Given the description of an element on the screen output the (x, y) to click on. 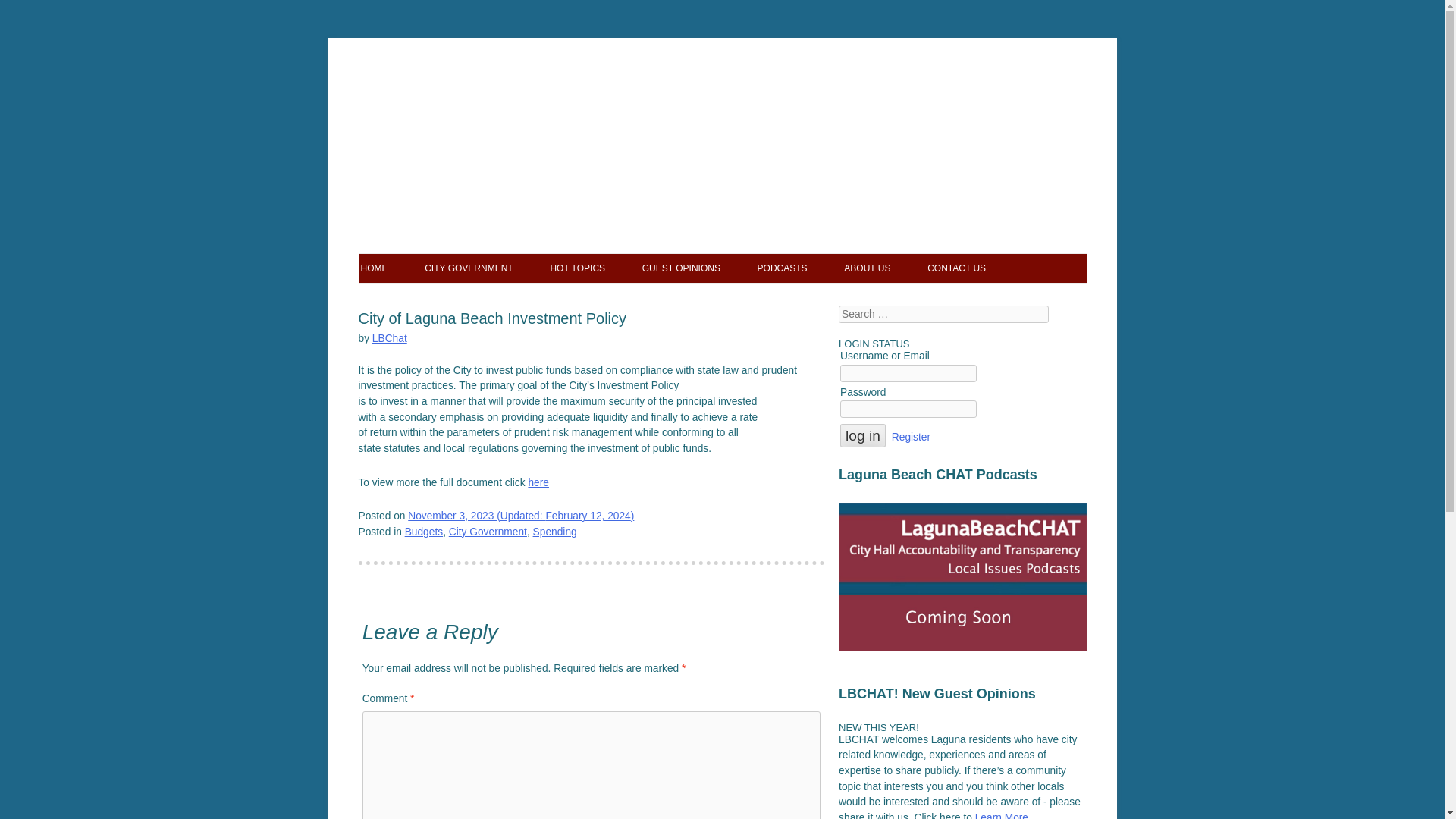
log in (862, 435)
LBChat (389, 337)
CITY GOVERNMENT (468, 267)
CONTACT US (956, 267)
HOME (374, 267)
ABOUT US (866, 267)
GUEST OPINIONS (681, 267)
LagunaBeachCHAT (721, 112)
LagunaBeachCHAT (721, 112)
LagunaBeachCHAT (448, 166)
